Given the description of an element on the screen output the (x, y) to click on. 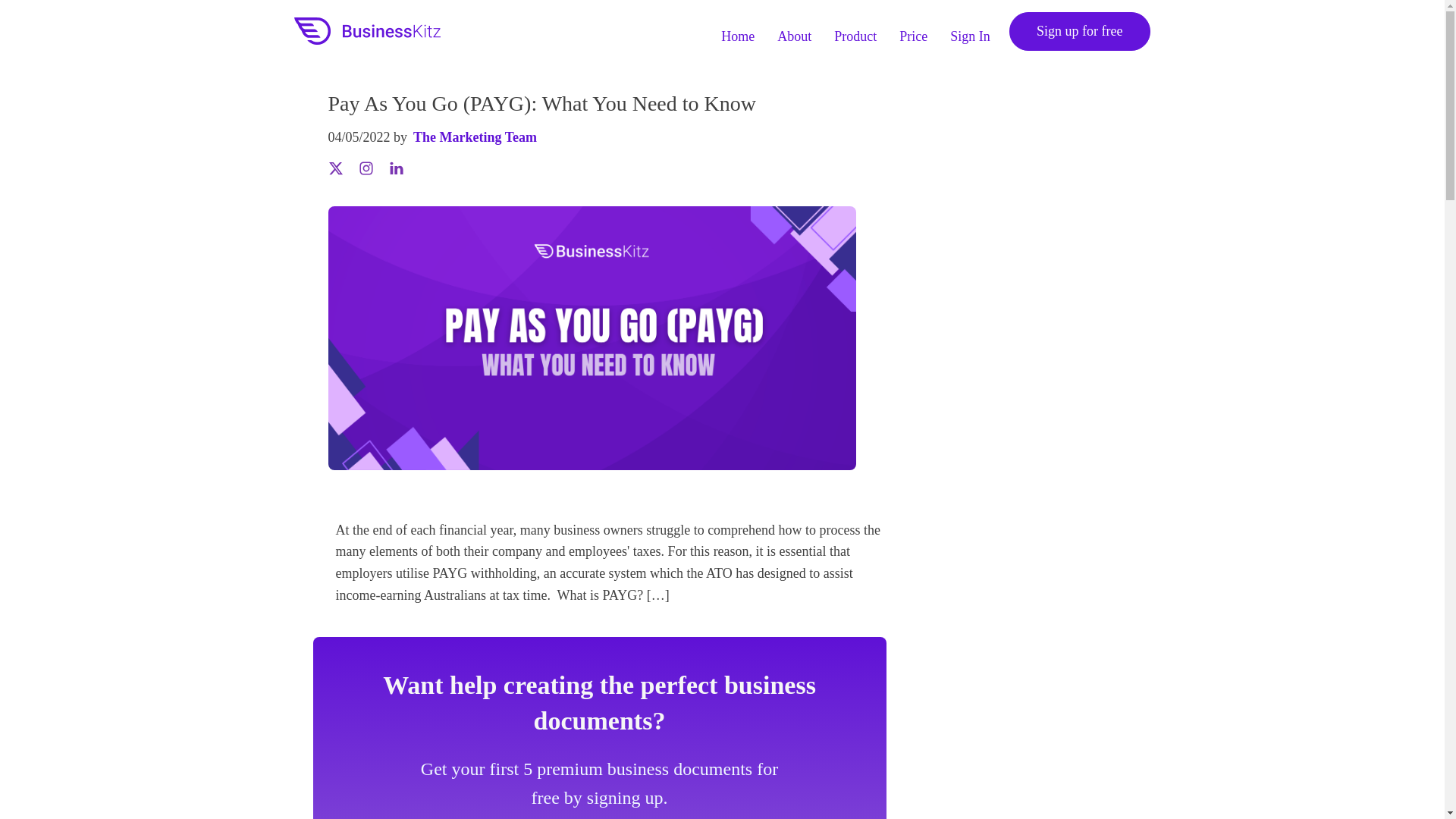
Product (854, 30)
Sign In (970, 30)
Home (737, 30)
Sign up for free (1079, 31)
The Marketing Team (475, 137)
About (794, 30)
Price (913, 30)
